Given the description of an element on the screen output the (x, y) to click on. 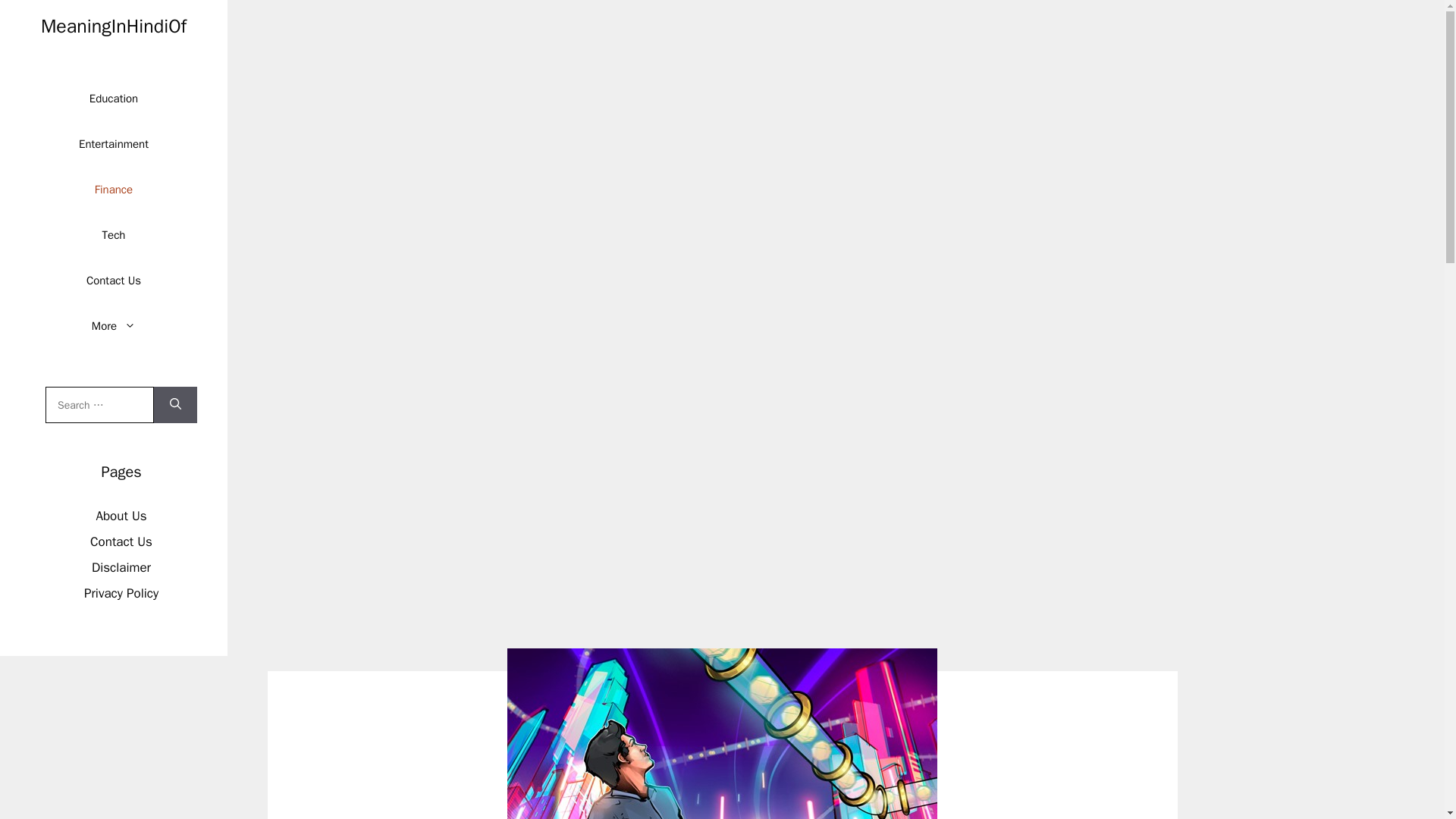
Disclaimer (121, 567)
More (114, 325)
About Us (121, 515)
Tech (114, 234)
Contact Us (121, 541)
Privacy Policy (121, 593)
Contact Us (113, 280)
Education (113, 98)
Entertainment (113, 144)
MeaningInHindiOf (113, 25)
